Given the description of an element on the screen output the (x, y) to click on. 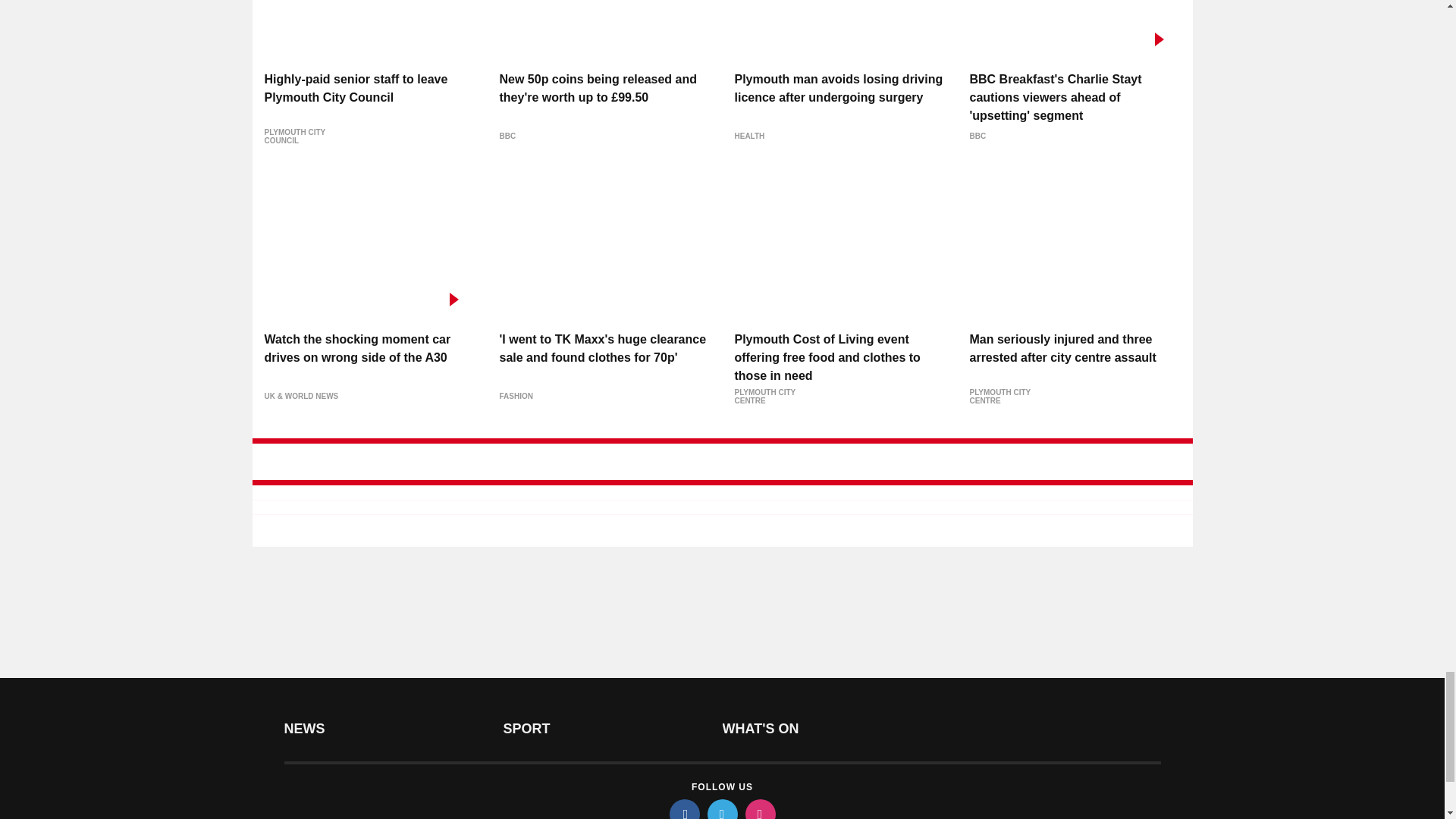
instagram (759, 809)
facebook (683, 809)
twitter (721, 809)
